Given the description of an element on the screen output the (x, y) to click on. 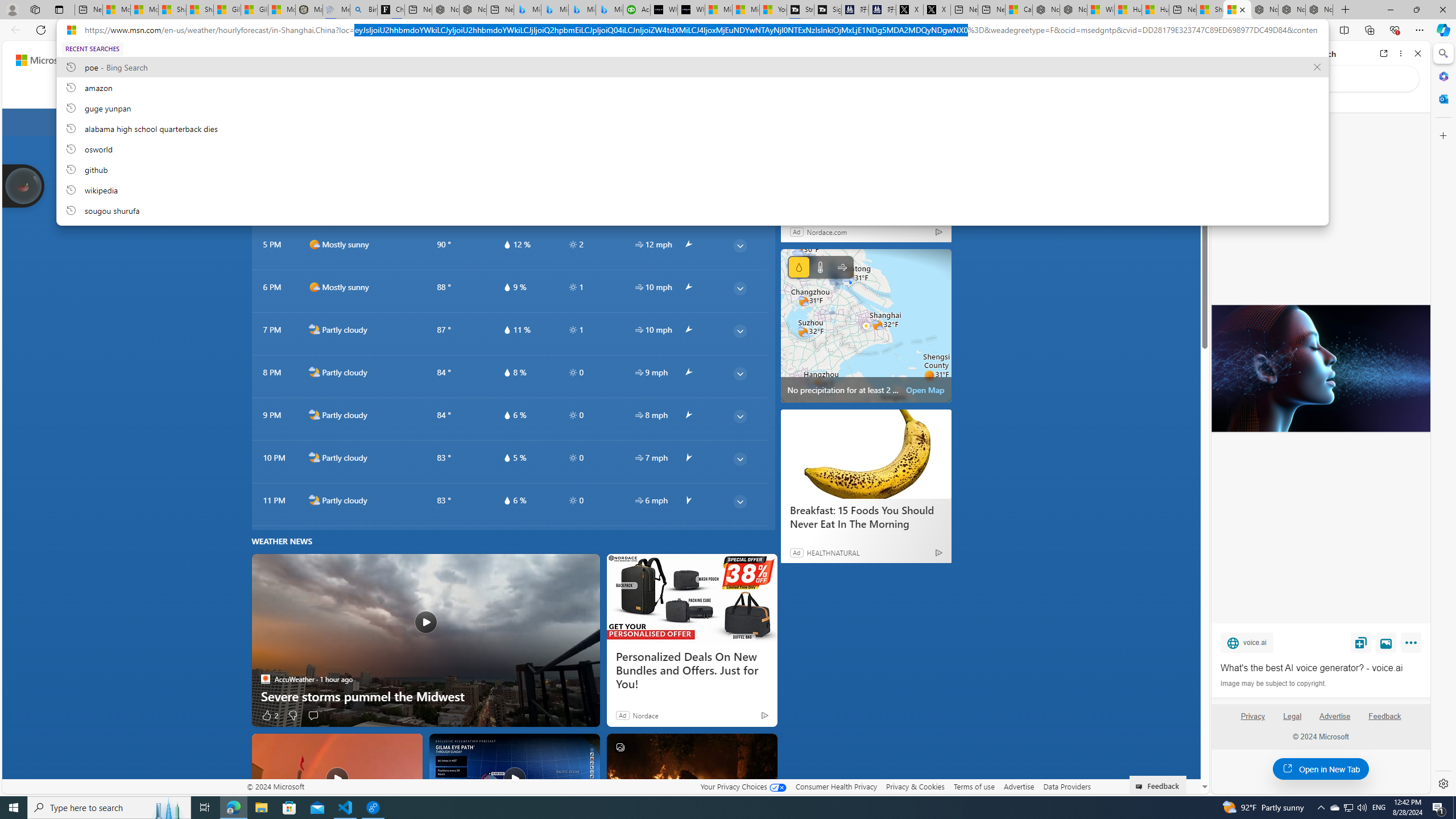
X (936, 9)
Open Copilot (803, 59)
Hurricanes (592, 92)
Monthly (427, 92)
Nordace Siena Pro 15 Backpack (1292, 9)
hourlyTable/wind (638, 500)
Privacy & Cookies (915, 786)
Advertise (1335, 715)
Home (1261, 53)
Consumer Health Privacy (835, 785)
Following (246, 92)
Search for location (318, 122)
